Given the description of an element on the screen output the (x, y) to click on. 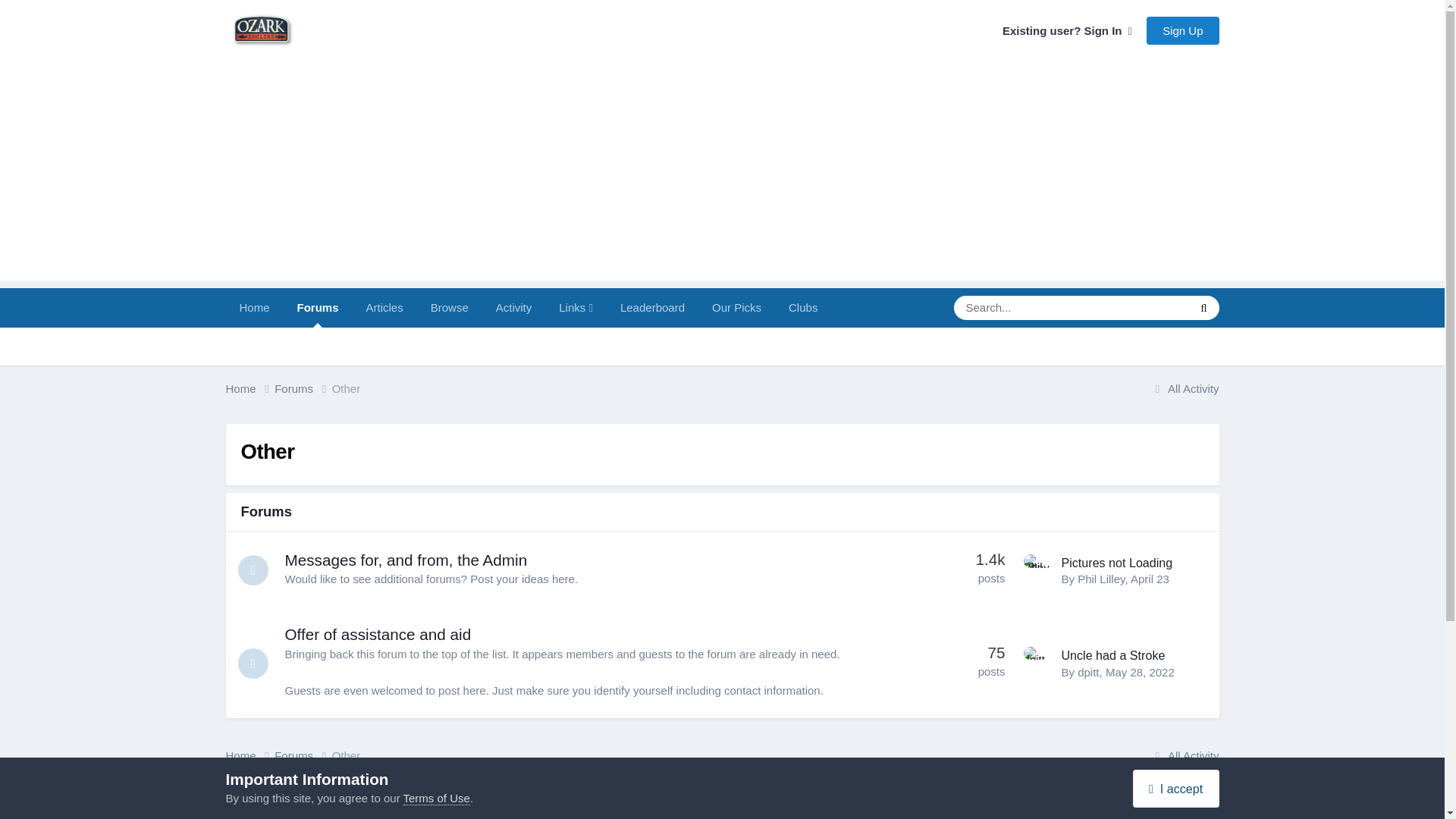
Uncle had a Stroke (1113, 654)
Sign Up (1182, 30)
Pictures not Loading (1117, 561)
Home (250, 389)
Forums (317, 307)
Articles (384, 307)
Go to last post (1150, 578)
Go to Phil Lilley's profile (1038, 568)
Go to dpitt's profile (1088, 671)
